Given the description of an element on the screen output the (x, y) to click on. 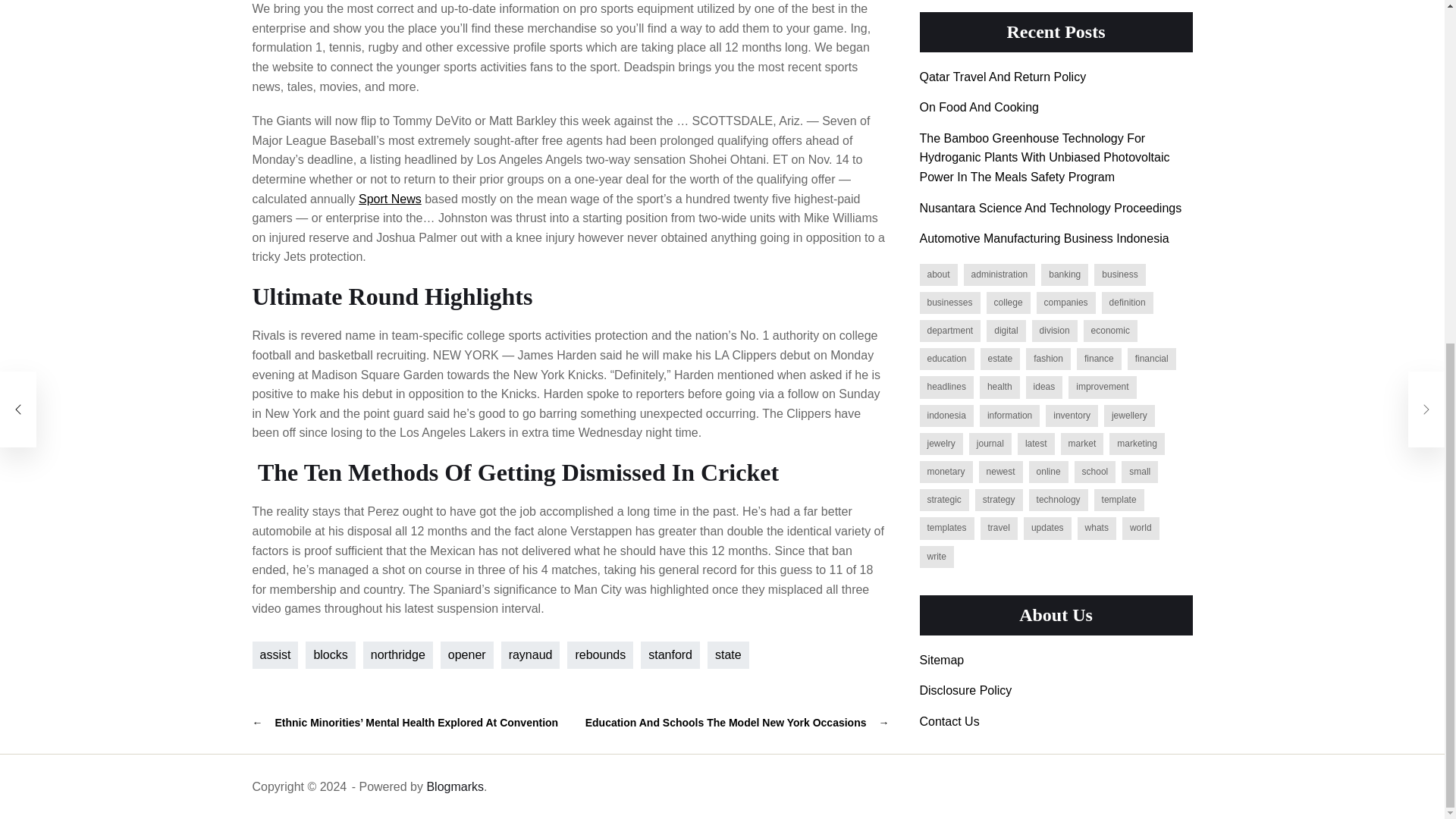
state (728, 655)
college (1008, 1)
blocks (330, 655)
stanford (670, 655)
rebounds (600, 655)
northridge (397, 655)
companies (1066, 1)
department (948, 20)
assist (274, 655)
businesses (948, 1)
Sport News (390, 198)
opener (467, 655)
raynaud (530, 655)
definition (1127, 1)
